Given the description of an element on the screen output the (x, y) to click on. 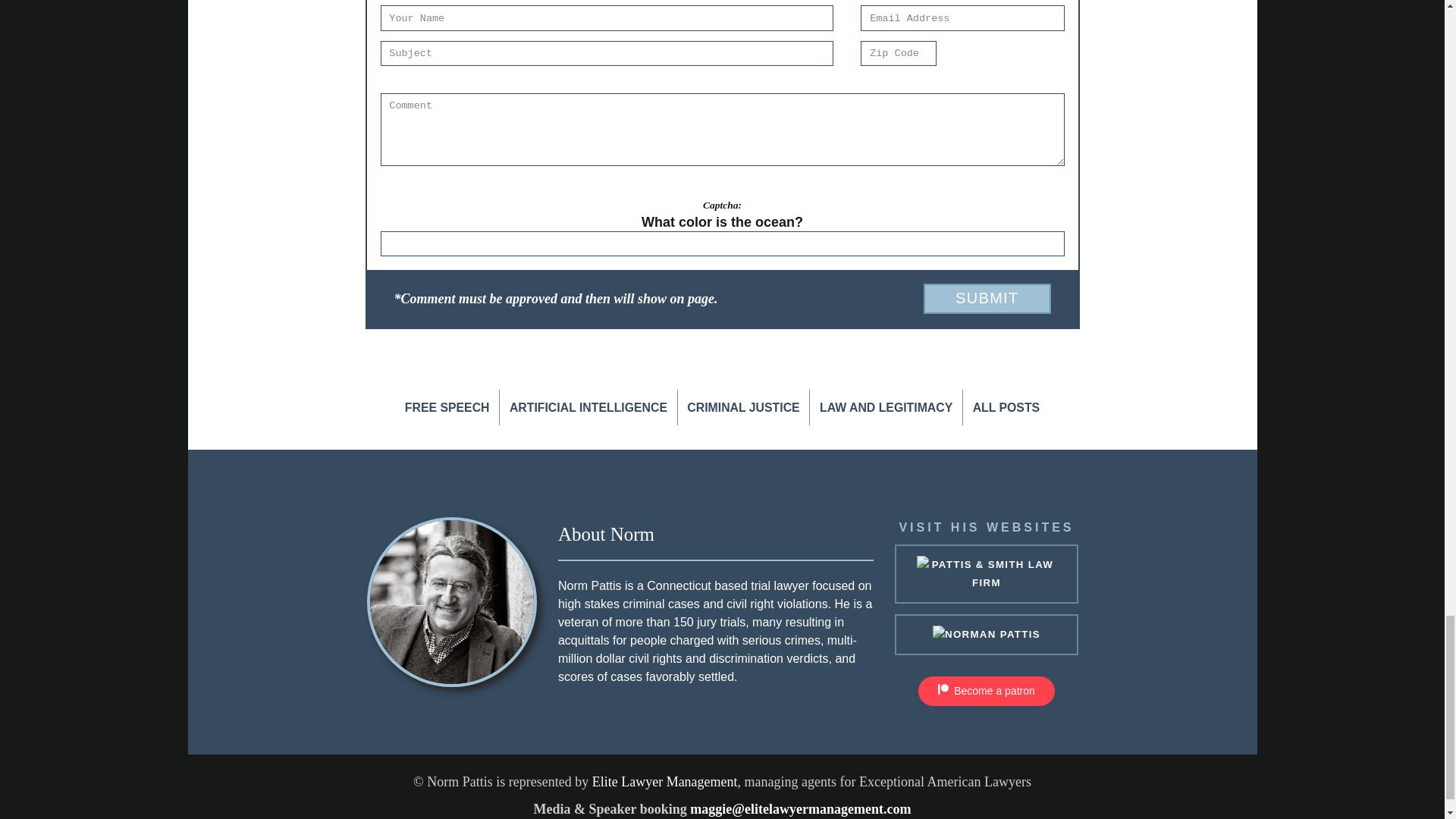
Subject (607, 53)
Artificial Intelligence (588, 407)
CRIMINAL JUSTICE (743, 407)
Submit (986, 298)
Become a patron (986, 690)
ALL POSTS (1005, 407)
Your Name (607, 17)
Email Address (962, 17)
Are you human? (722, 222)
Free Speech (446, 407)
